Given the description of an element on the screen output the (x, y) to click on. 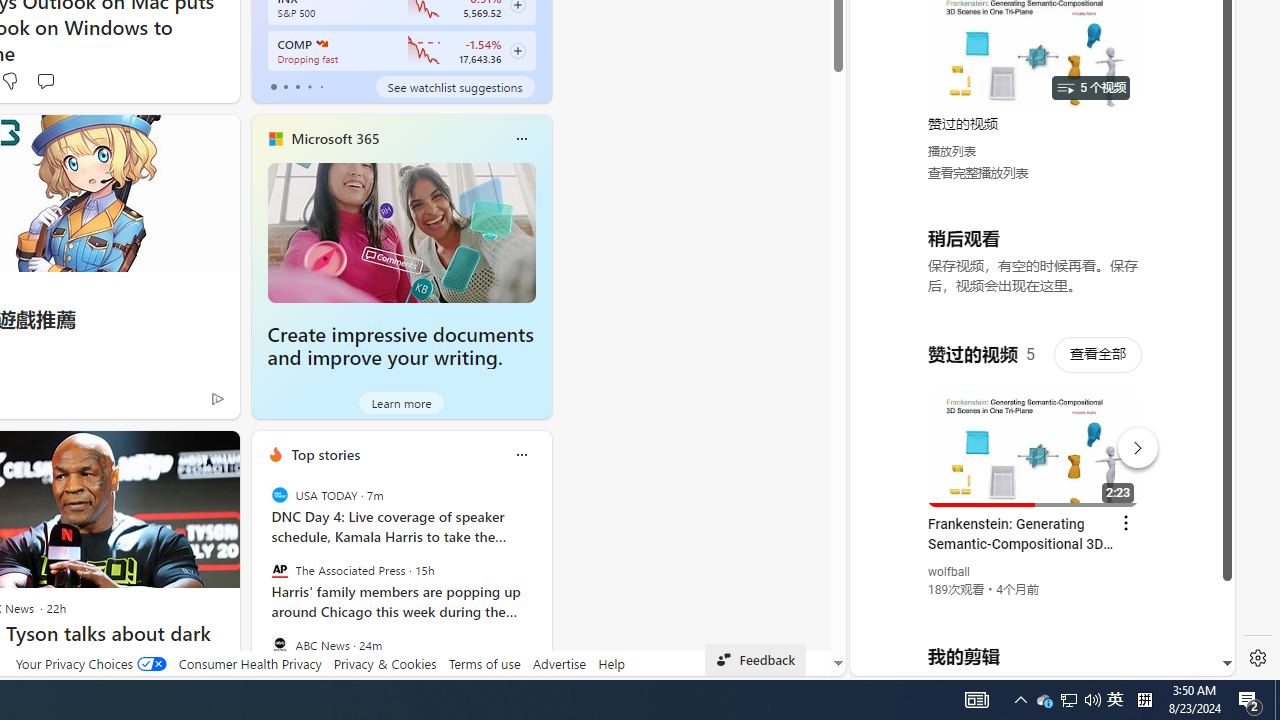
previous (261, 583)
tab-2 (297, 86)
Global web icon (888, 432)
Class: dict_pnIcon rms_img (1028, 660)
Microsoft 365 (335, 139)
YouTube - YouTube (1034, 266)
YouTube (1034, 432)
Start the conversation (45, 80)
See more (214, 454)
tab-0 (273, 86)
Create impressive documents and improve your writing. (401, 232)
Click to scroll right (1196, 83)
